Given the description of an element on the screen output the (x, y) to click on. 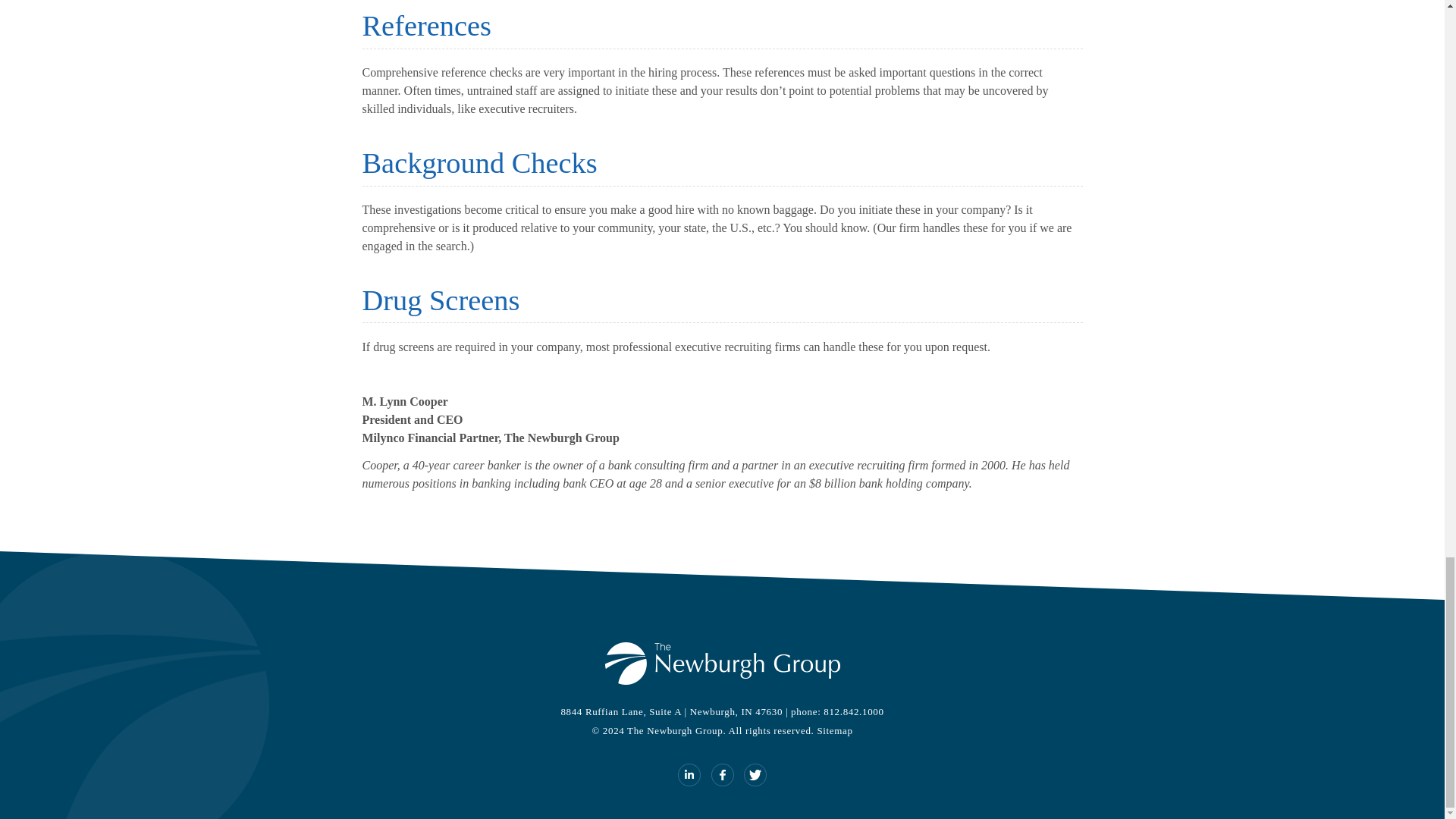
Sitemap (833, 730)
812.842.1000 (853, 711)
Twitter (755, 774)
LinkedIn (689, 774)
Facebook (722, 774)
